Given the description of an element on the screen output the (x, y) to click on. 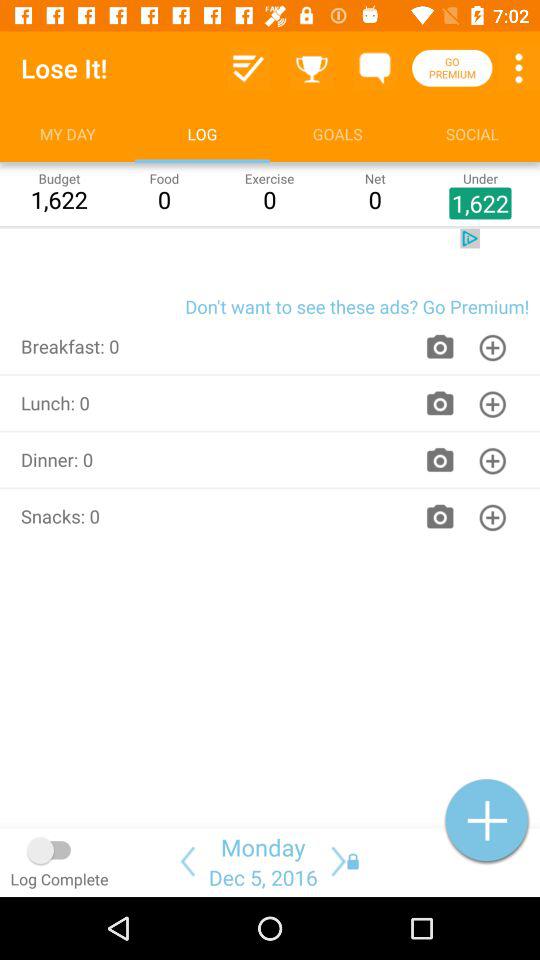
click on the icon in the dinner0 row (492, 459)
click the icon beside loose it (249, 68)
click the camera icon right to breakfast 0 (440, 346)
